Given the description of an element on the screen output the (x, y) to click on. 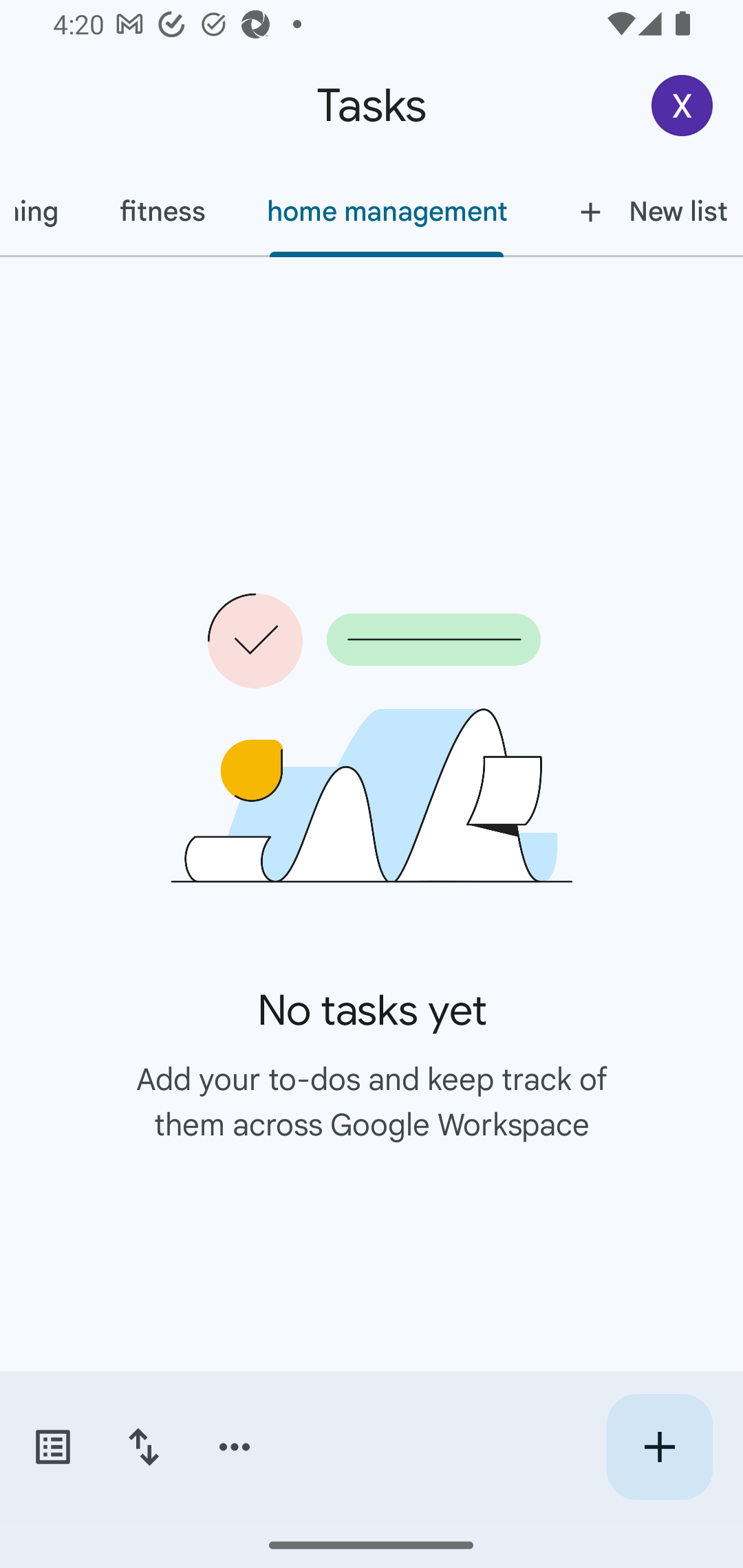
holiday planning (44, 211)
fitness (162, 211)
New list (640, 211)
Switch task lists (52, 1447)
Create new task (659, 1446)
Change sort order (143, 1446)
More options (234, 1446)
